Given the description of an element on the screen output the (x, y) to click on. 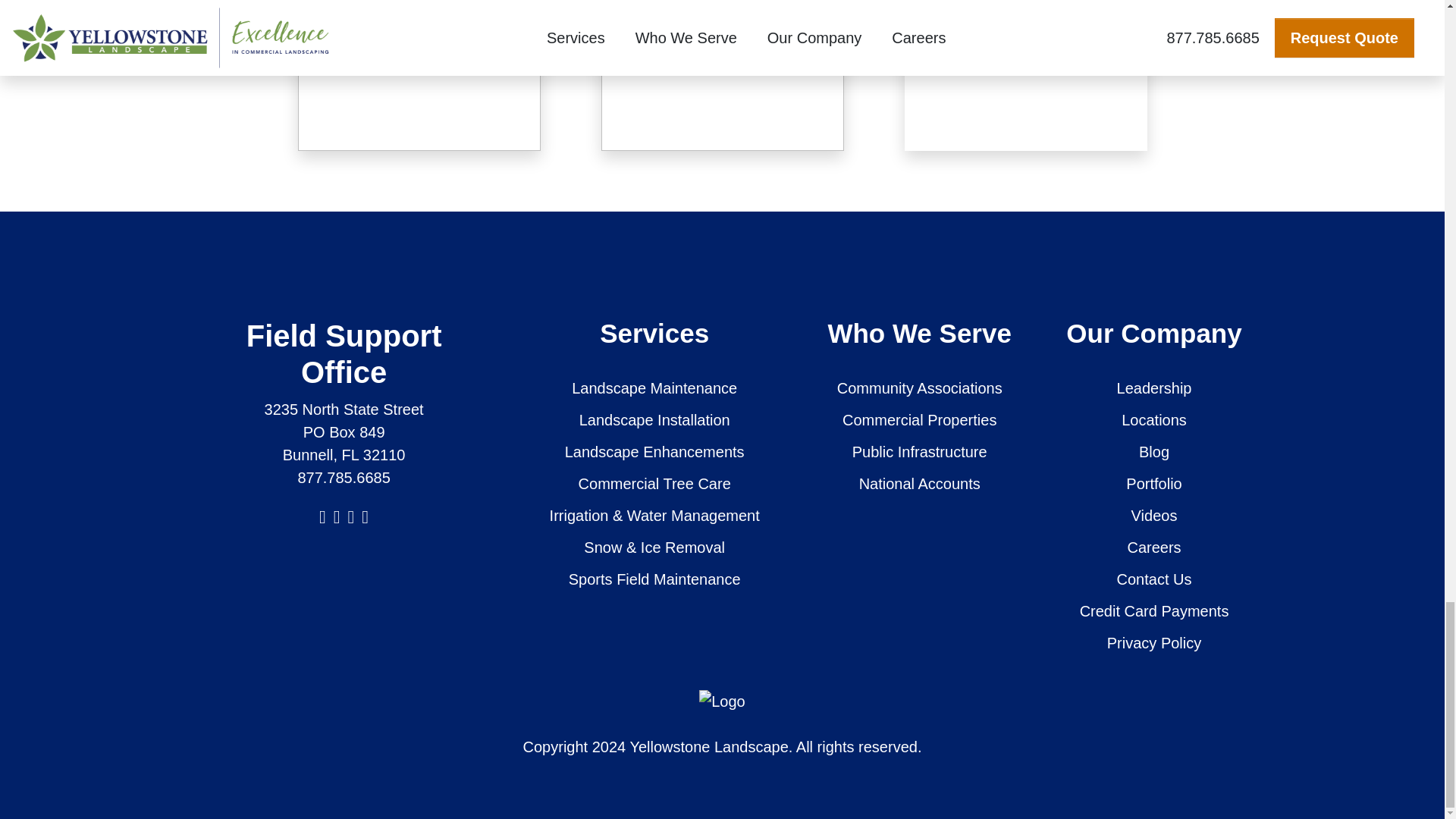
Tennessee Logistics Facilities Focused on the Future (1018, 35)
877.785.6685 (343, 477)
World Renowned Medical Campus in Columbus (413, 29)
Landscape Installation (654, 419)
Landscape Maintenance (654, 388)
